Given the description of an element on the screen output the (x, y) to click on. 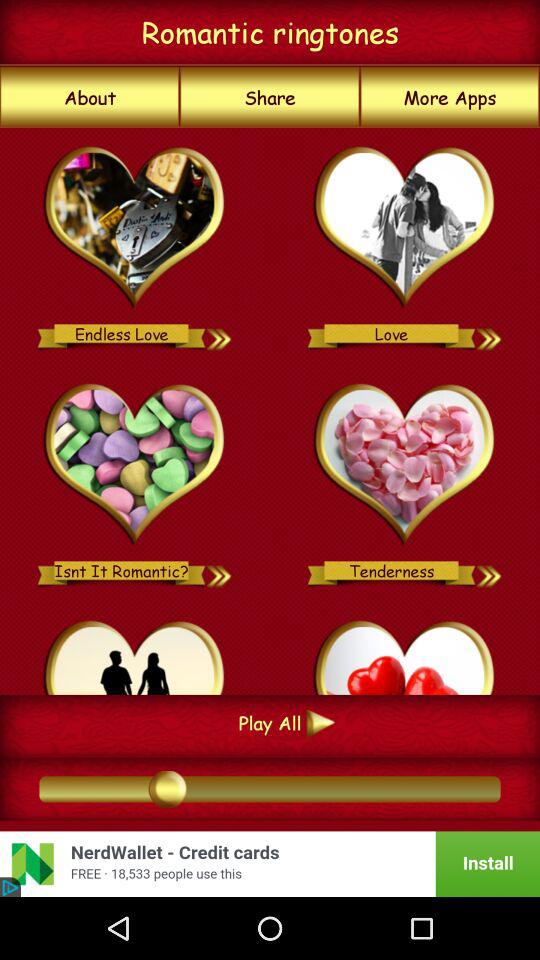
go to next (490, 333)
